Given the description of an element on the screen output the (x, y) to click on. 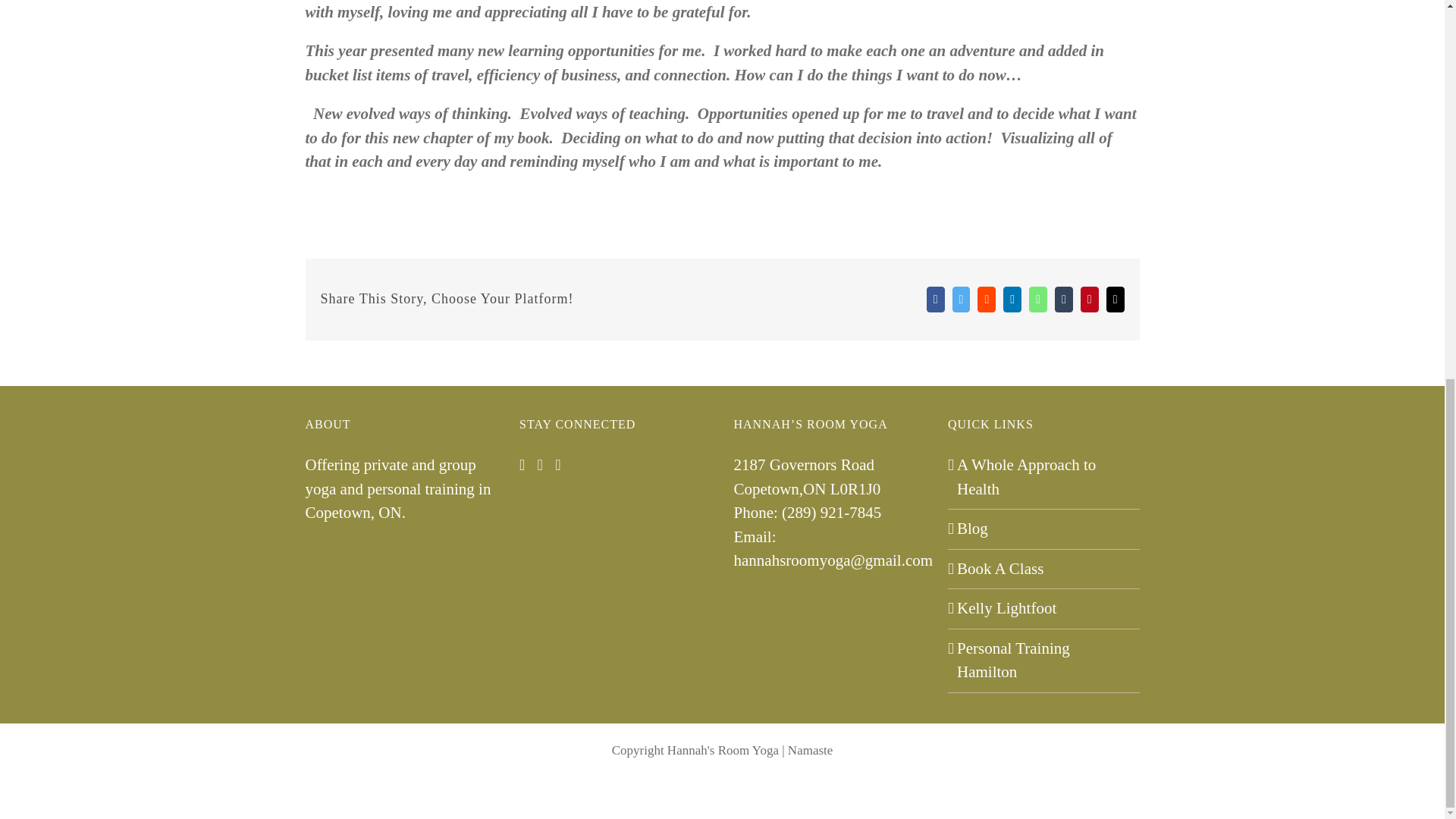
WhatsApp (1037, 299)
Reddit (985, 299)
Tumblr (1063, 299)
WhatsApp (1037, 299)
Book A Class (1044, 569)
Tumblr (1063, 299)
Instagram (521, 464)
Reddit (985, 299)
Instagram (712, 789)
Kelly Lightfoot (1044, 608)
Twitter (961, 299)
Pinterest (1089, 299)
Facebook (731, 789)
Email (1115, 299)
Facebook (935, 299)
